Given the description of an element on the screen output the (x, y) to click on. 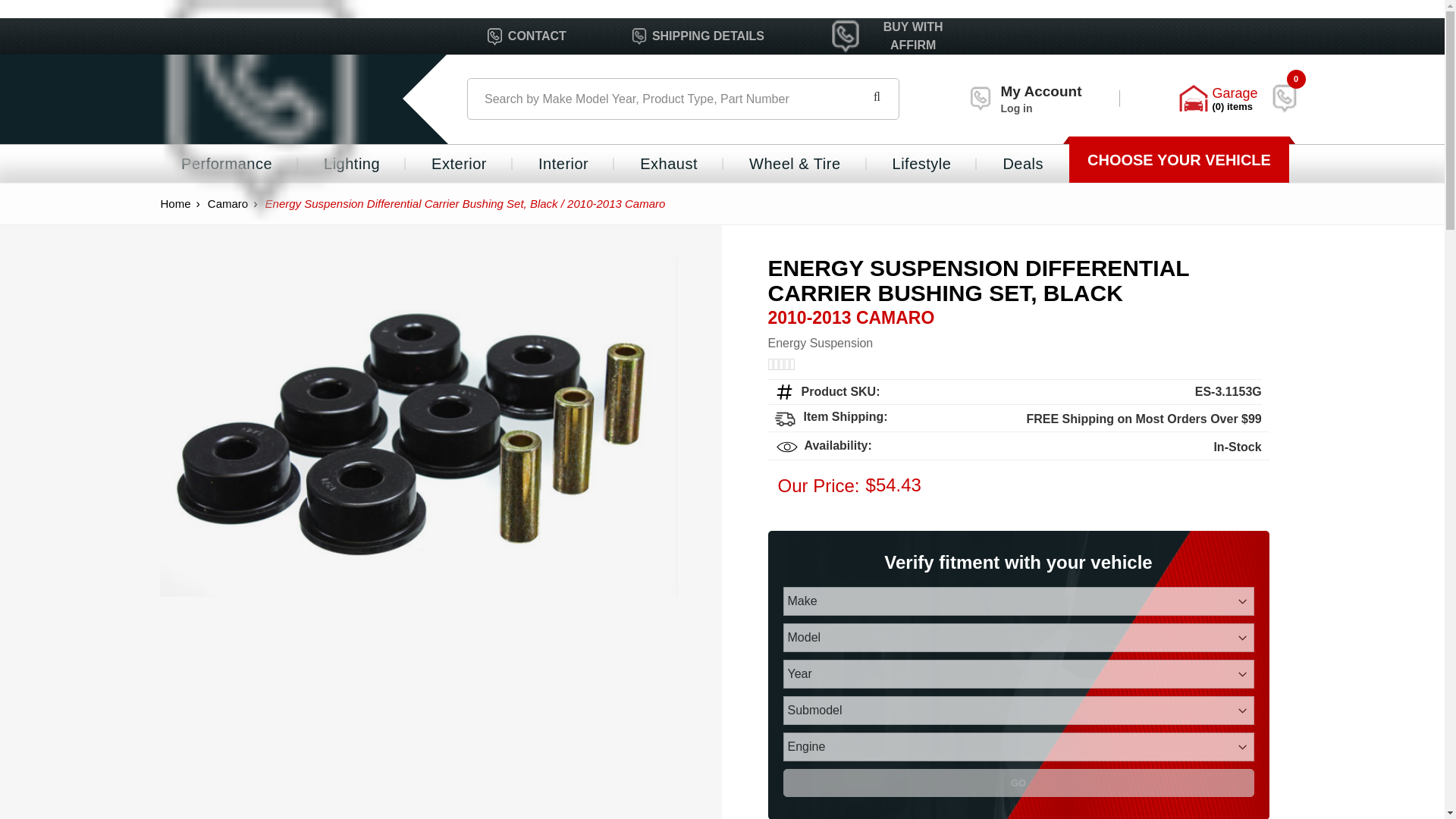
Performance (226, 163)
view Shipping Information (638, 36)
Exterior (459, 163)
BUY WITH AFFIRM (893, 36)
view My Account (1024, 98)
CONTACT (980, 98)
SHIPPING DETAILS (525, 36)
view Contact Phastek (697, 36)
view Shopping Cart (493, 36)
0 (1284, 98)
Lighting (1288, 98)
view Affirm as buying option (352, 163)
